Given the description of an element on the screen output the (x, y) to click on. 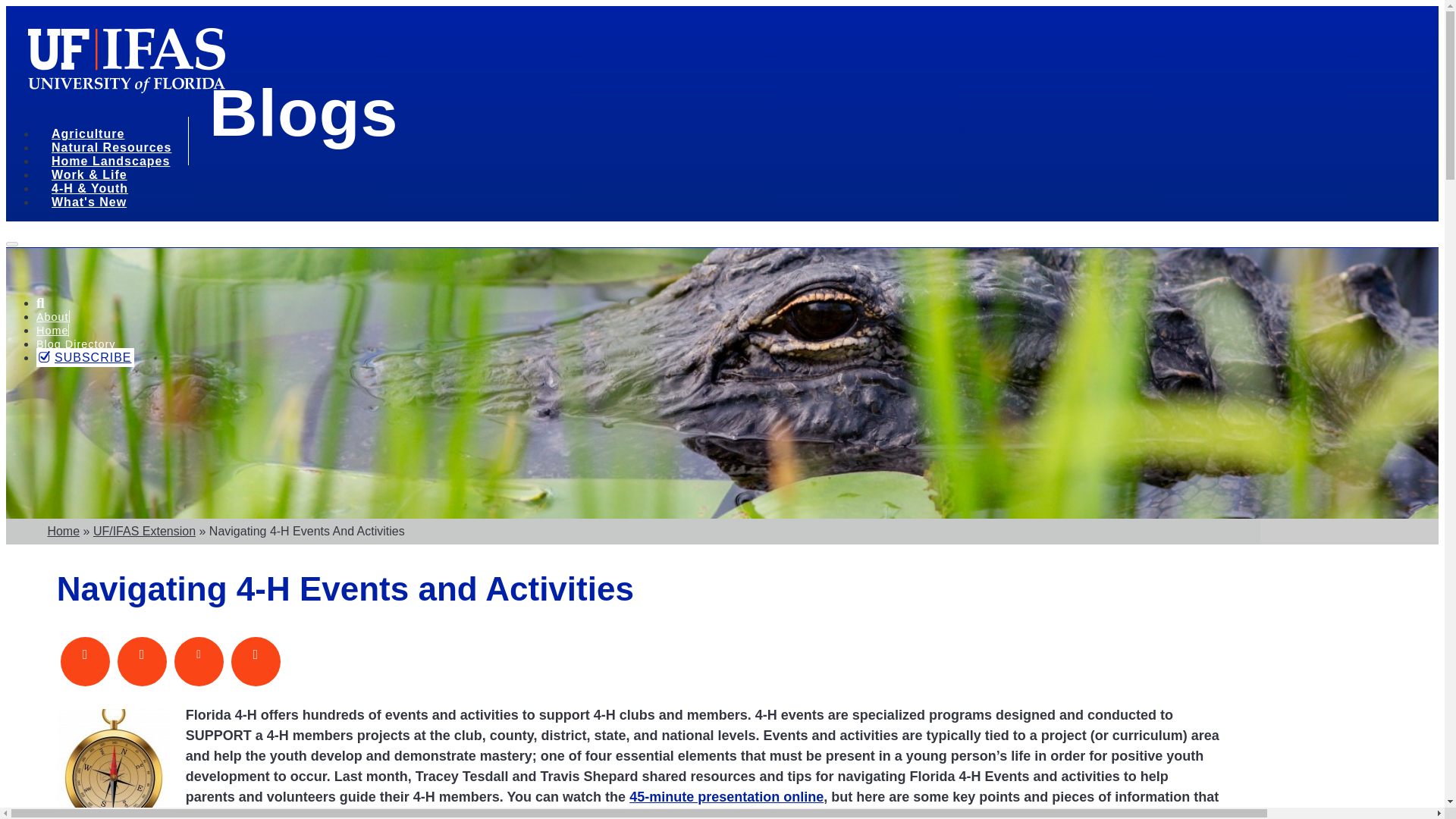
Agriculture (92, 135)
Home (52, 330)
SUBSCRIBE (84, 357)
About (52, 316)
Blog Directory (75, 344)
Blogs (303, 112)
Home Landscapes (115, 162)
Natural Resources (116, 149)
